Given the description of an element on the screen output the (x, y) to click on. 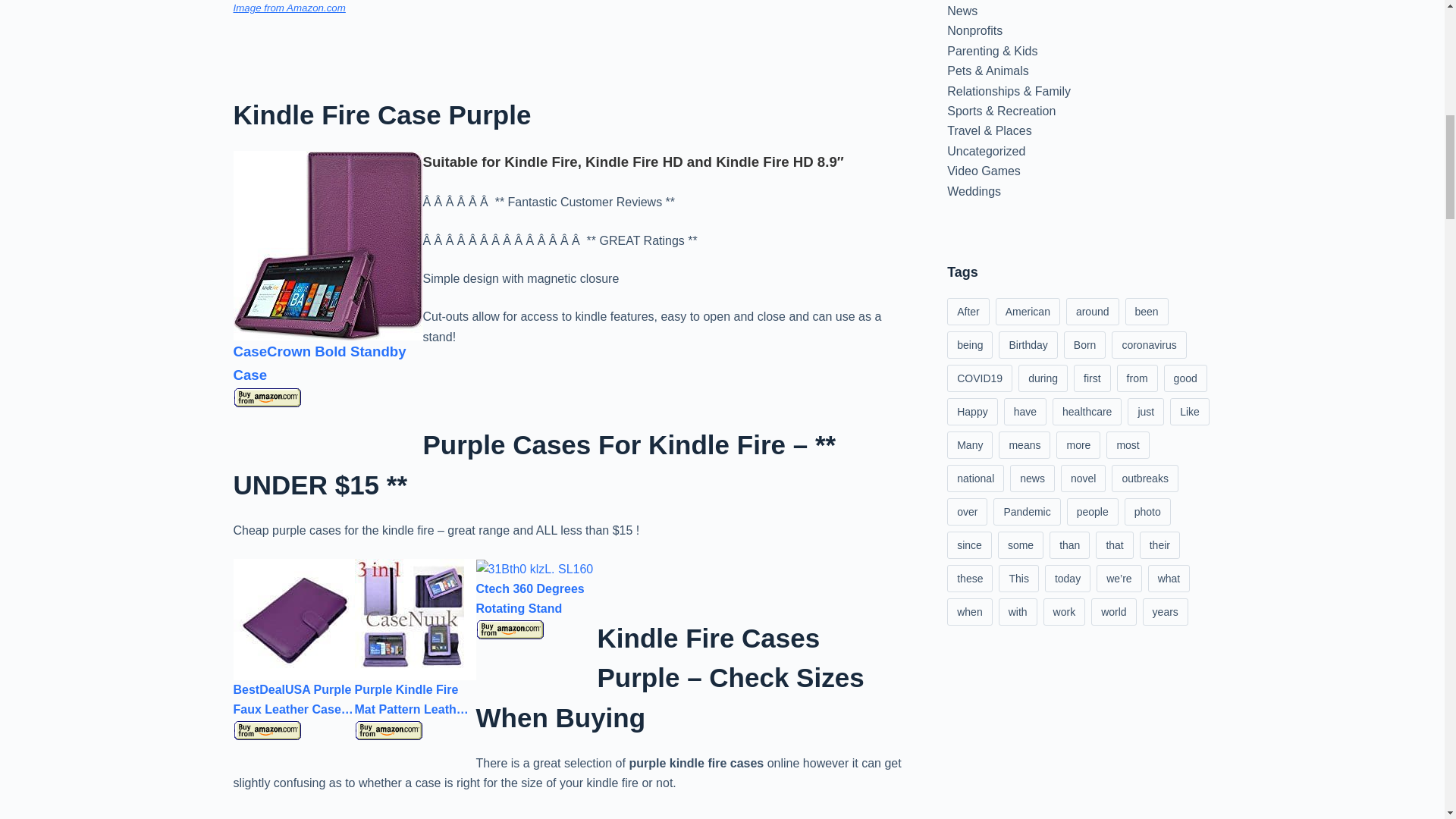
Purple Kindle Fire Case - Great Selection Here! (266, 731)
Purple Kindle Fire Case - Great Selection Here! (510, 629)
Purple Kindle Fire Case - Great Selection Here! (266, 397)
Purple Kindle Fire Case - Great Selection Here! (535, 569)
Purple Kindle Fire Case - Great Selection Here! (389, 731)
Purple Kindle Fire Case - Great Selection Here! (415, 619)
Purple Kindle Fire Case - Great Selection Here! (293, 619)
Purple Kindle Fire Case - Great Selection Here! (327, 245)
